Given the description of an element on the screen output the (x, y) to click on. 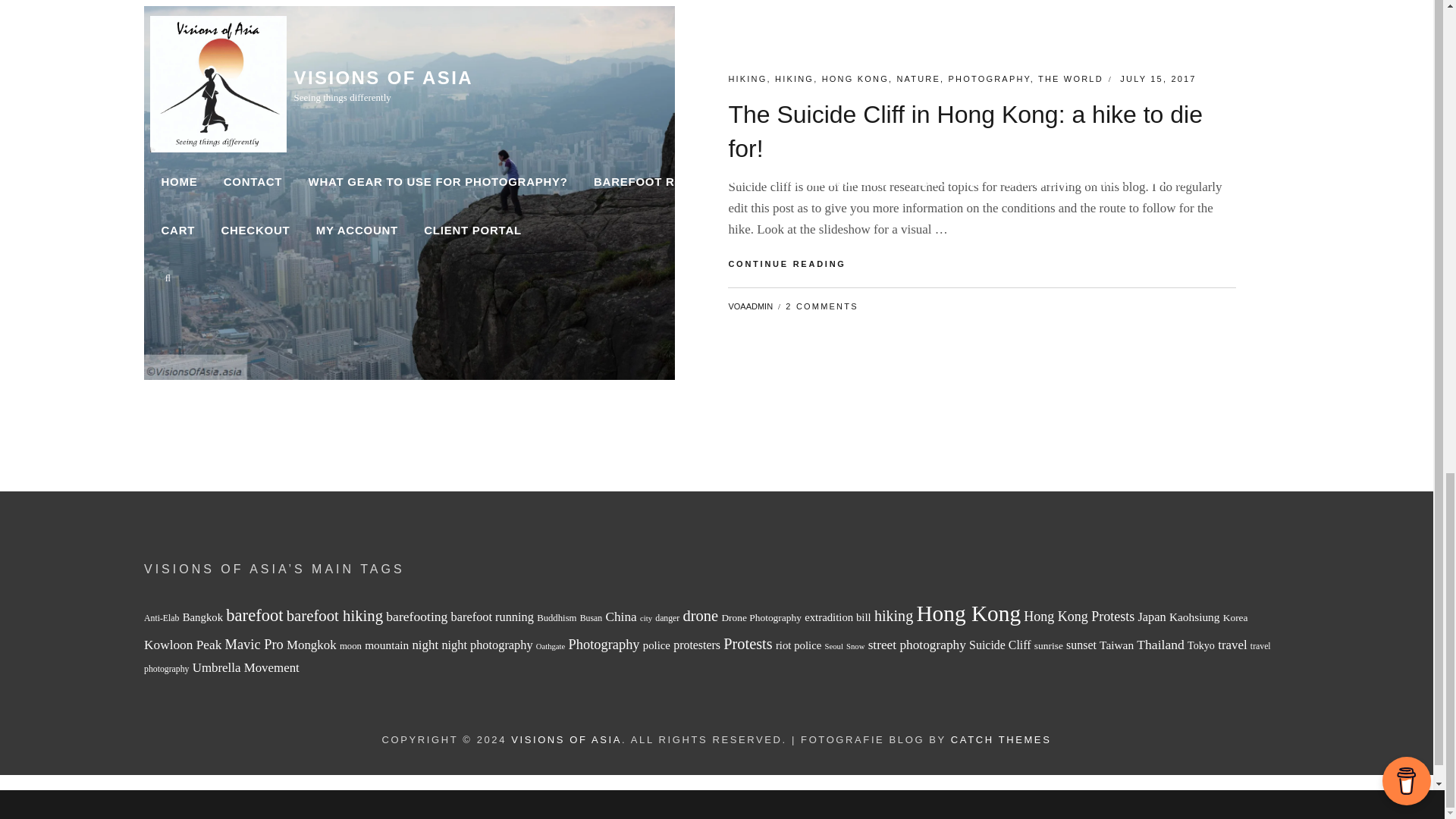
THE WORLD (1070, 78)
PHOTOGRAPHY (989, 78)
JULY 15, 2017 (1157, 78)
HONG KONG (855, 78)
HIKING (793, 78)
NATURE (918, 78)
HIKING (747, 78)
